Given the description of an element on the screen output the (x, y) to click on. 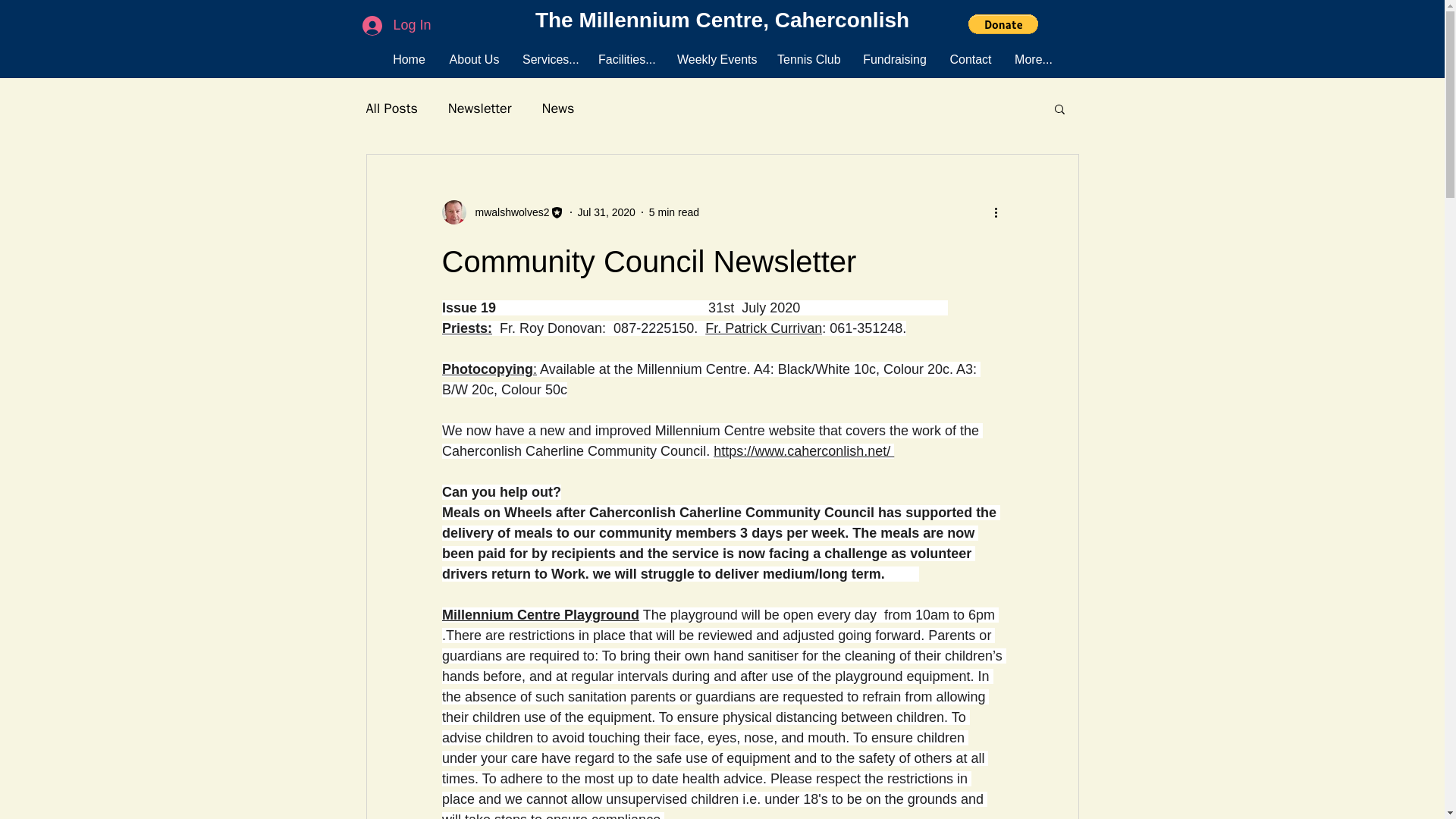
Jul 31, 2020 (606, 212)
All Posts (390, 108)
Fr. Patrick Currivan (763, 328)
Millennium Centre Playground (540, 614)
Services... (548, 58)
mwalshwolves2 (506, 212)
Newsletter (480, 108)
mwalshwolves2 (502, 211)
Contact (970, 58)
Weekly Events (715, 58)
Facilities... (625, 58)
Log In (396, 24)
Home (409, 58)
Tennis Club (808, 58)
5 min read (673, 212)
